Given the description of an element on the screen output the (x, y) to click on. 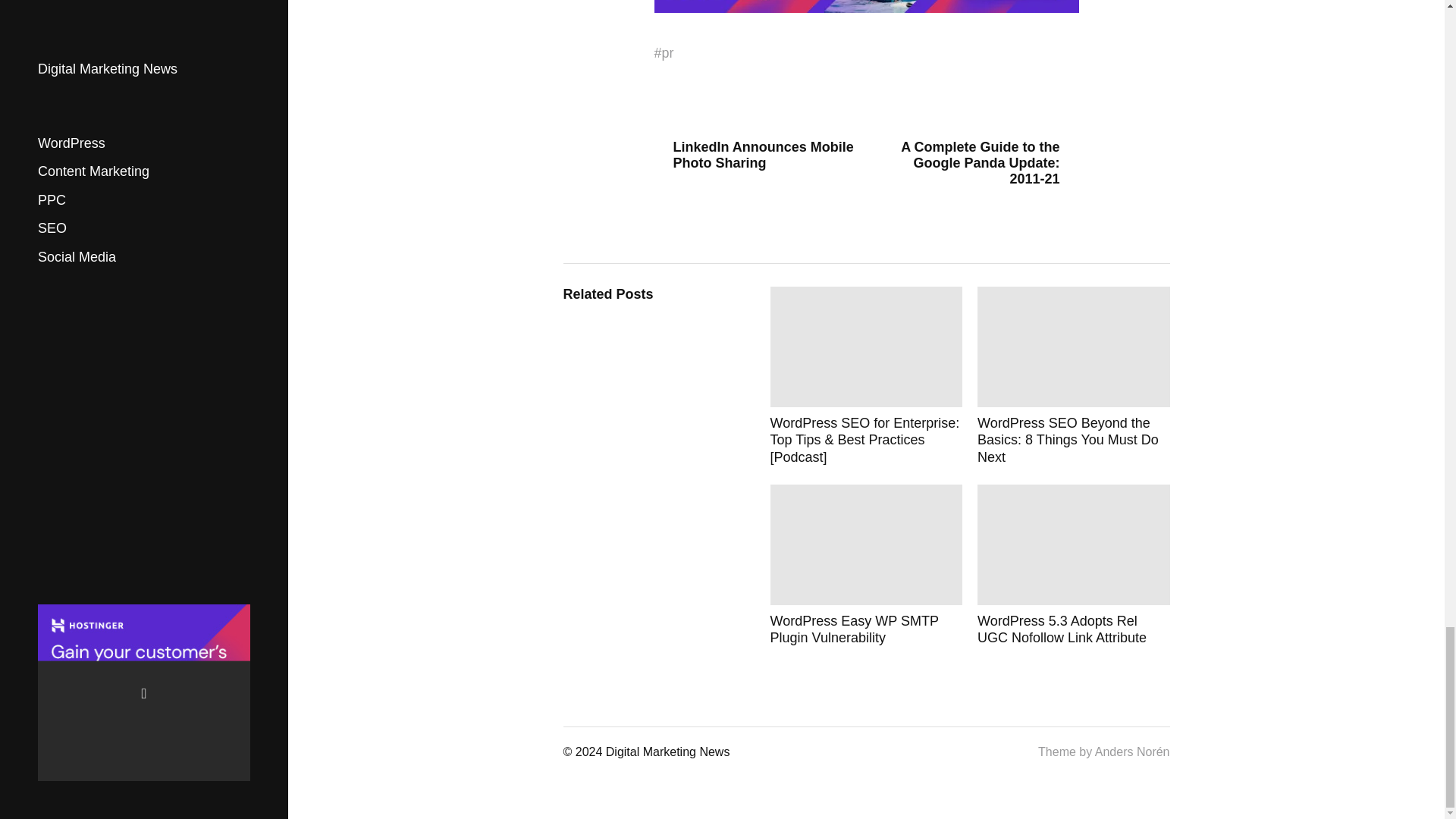
LinkedIn Announces Mobile Photo Sharing (753, 155)
Digital Marketing News (667, 752)
WordPress SEO Beyond the Basics: 8 Things You Must Do Next (1073, 376)
A Complete Guide to the Google Panda Update: 2011-21 (977, 163)
WordPress Easy WP SMTP Plugin Vulnerability (866, 565)
pr (668, 53)
WordPress 5.3 Adopts Rel UGC Nofollow Link Attribute (1073, 565)
